Given the description of an element on the screen output the (x, y) to click on. 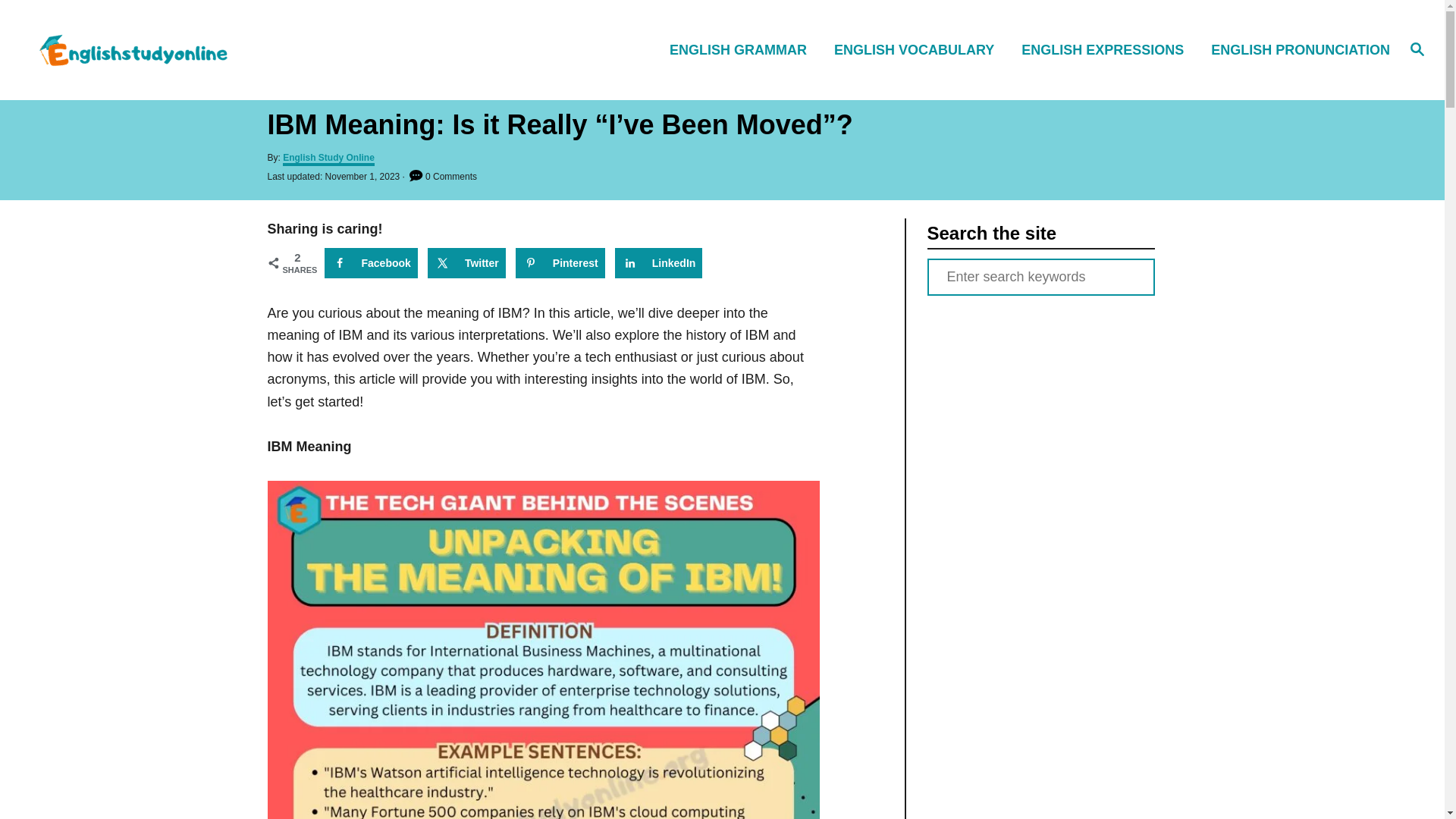
ENGLISH EXPRESSIONS (1106, 49)
Magnifying Glass (1416, 48)
ENGLISH VOCABULARY (918, 49)
Save to Pinterest (560, 263)
ENGLISH GRAMMAR (743, 49)
Share on LinkedIn (658, 263)
ENGLISH PRONUNCIATION (1296, 49)
Share on Facebook (370, 263)
English Study Online (204, 49)
Share on X (466, 263)
